Given the description of an element on the screen output the (x, y) to click on. 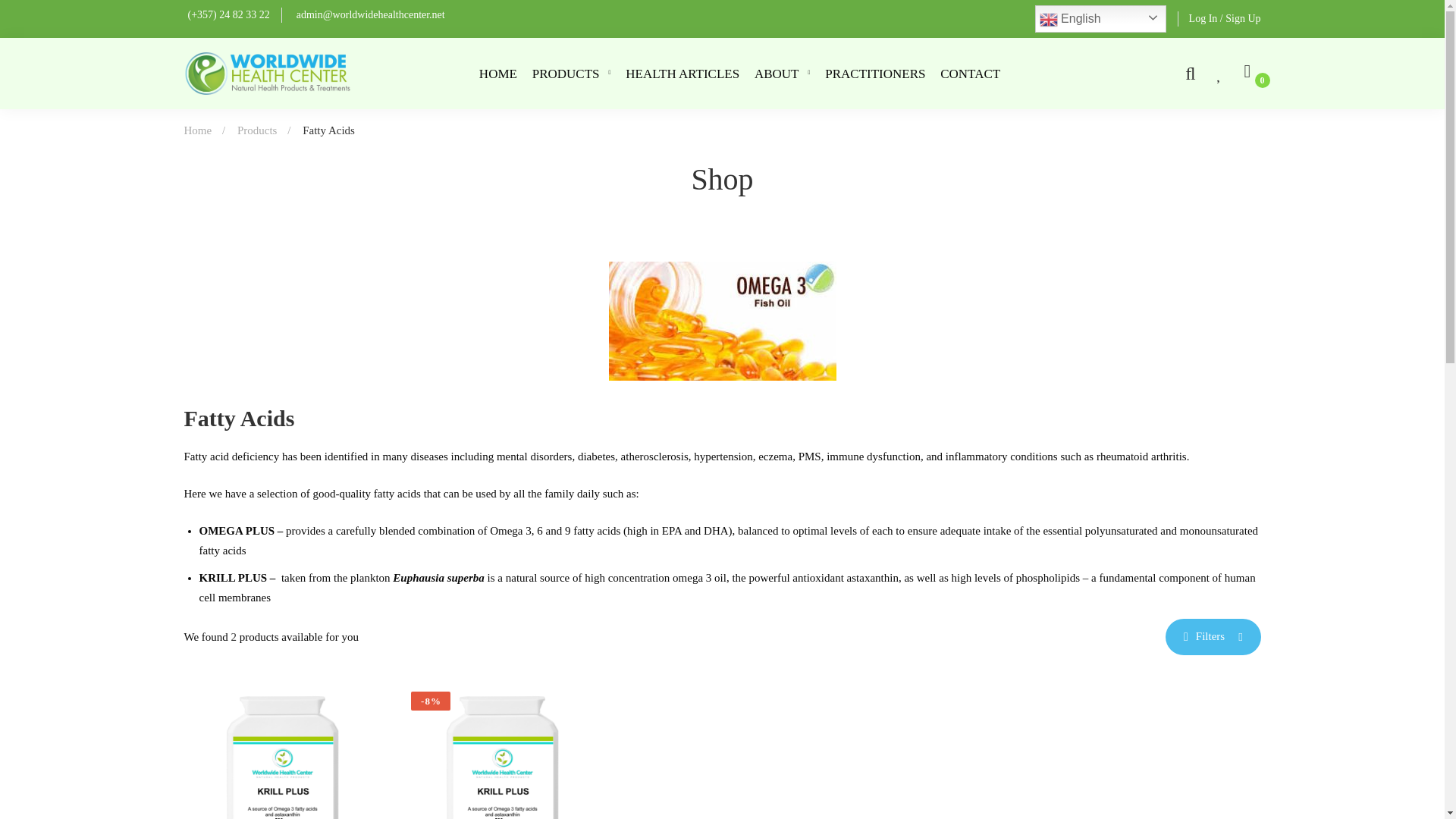
English (1100, 18)
HEALTH ARTICLES (675, 74)
ABOUT (776, 74)
View your shopping cart (1252, 73)
PRODUCTS (565, 74)
